Given the description of an element on the screen output the (x, y) to click on. 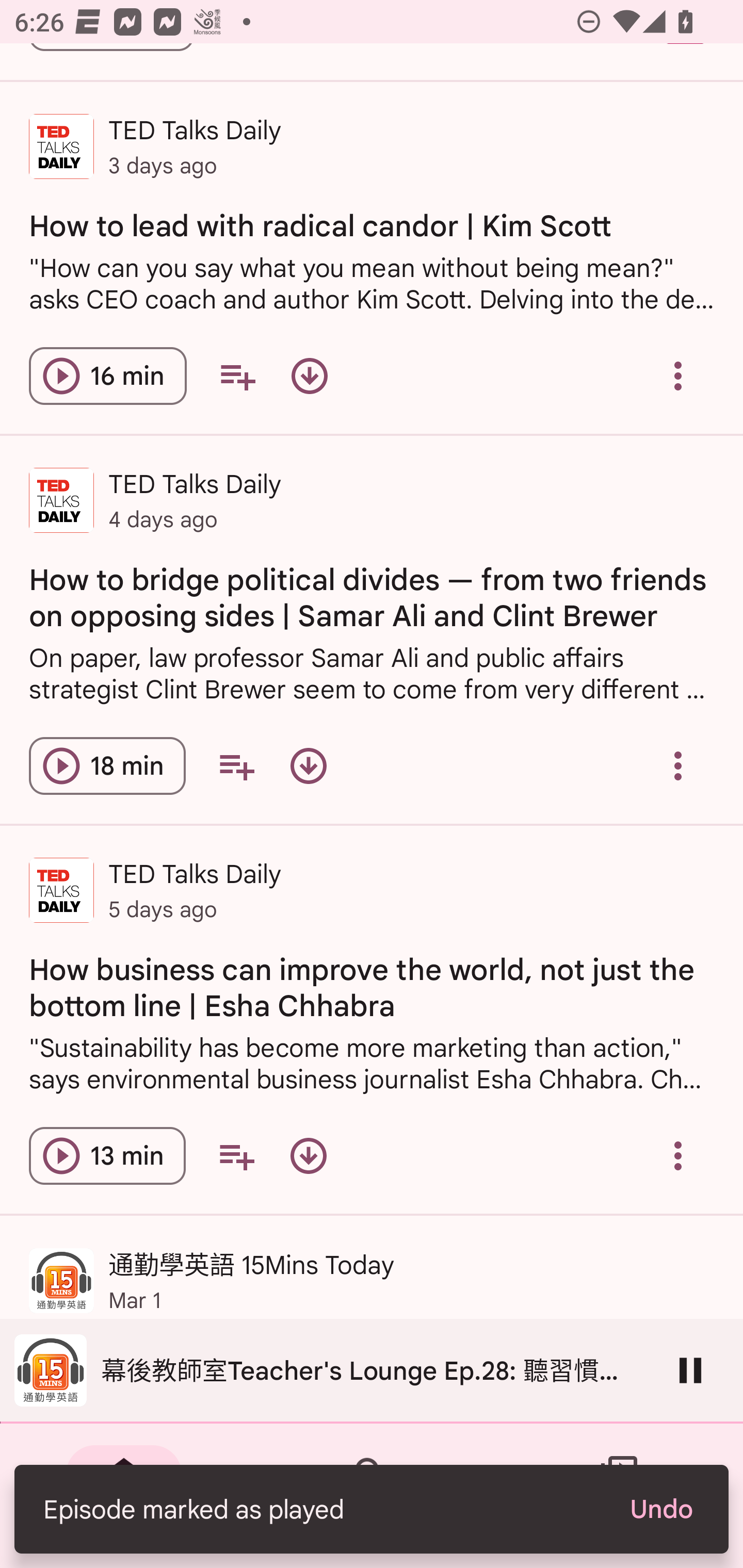
Add to your queue (237, 375)
Download episode (309, 375)
Overflow menu (677, 375)
Add to your queue (235, 765)
Download episode (308, 765)
Overflow menu (677, 765)
Add to your queue (235, 1156)
Download episode (308, 1156)
Overflow menu (677, 1156)
Pause (690, 1370)
Undo (660, 1509)
